Given the description of an element on the screen output the (x, y) to click on. 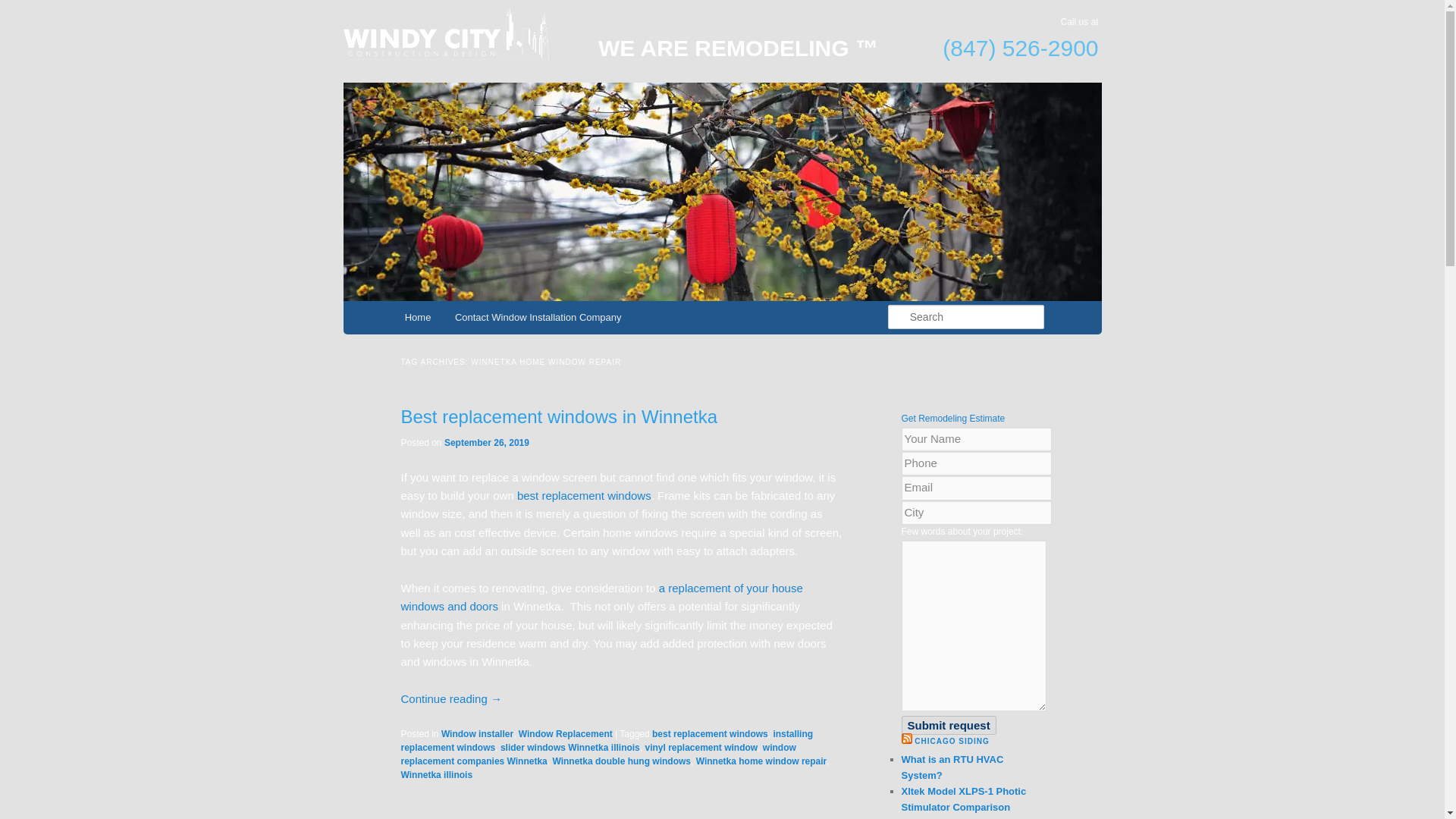
What is an RTU HVAC System? (952, 767)
slider windows Winnetka illinois (570, 747)
September 26, 2019 (486, 442)
best replacement windows (710, 733)
Chicago Windows Replacement (572, 62)
Winnetka illinois (435, 774)
Contact Window Installation Company (537, 317)
Skip to primary content (472, 320)
Xltek Model XLPS-1 Photic Stimulator Comparison (963, 799)
Search (21, 11)
9:14 pm (486, 442)
CHICAGO SIDING (951, 741)
installing replacement windows (606, 740)
Window Replacement (565, 733)
